Given the description of an element on the screen output the (x, y) to click on. 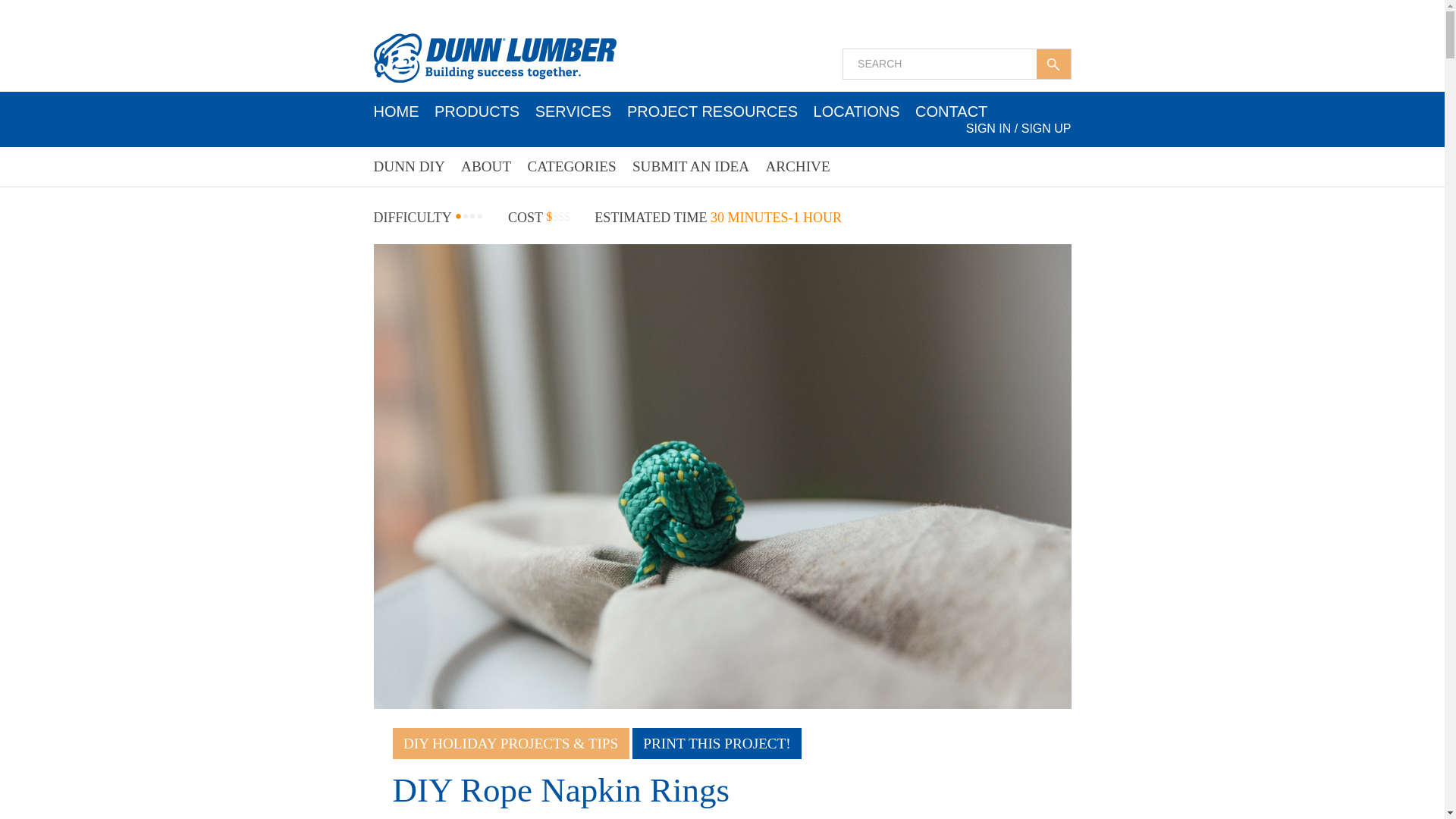
SIGN IN (988, 128)
HOME (395, 111)
DUNN DIY (408, 166)
SIGN UP (1046, 128)
CONTACT (951, 111)
SERVICES (573, 111)
LOCATIONS (856, 111)
PRODUCTS (476, 111)
PROJECT RESOURCES (712, 111)
DunnDIY (493, 57)
